Given the description of an element on the screen output the (x, y) to click on. 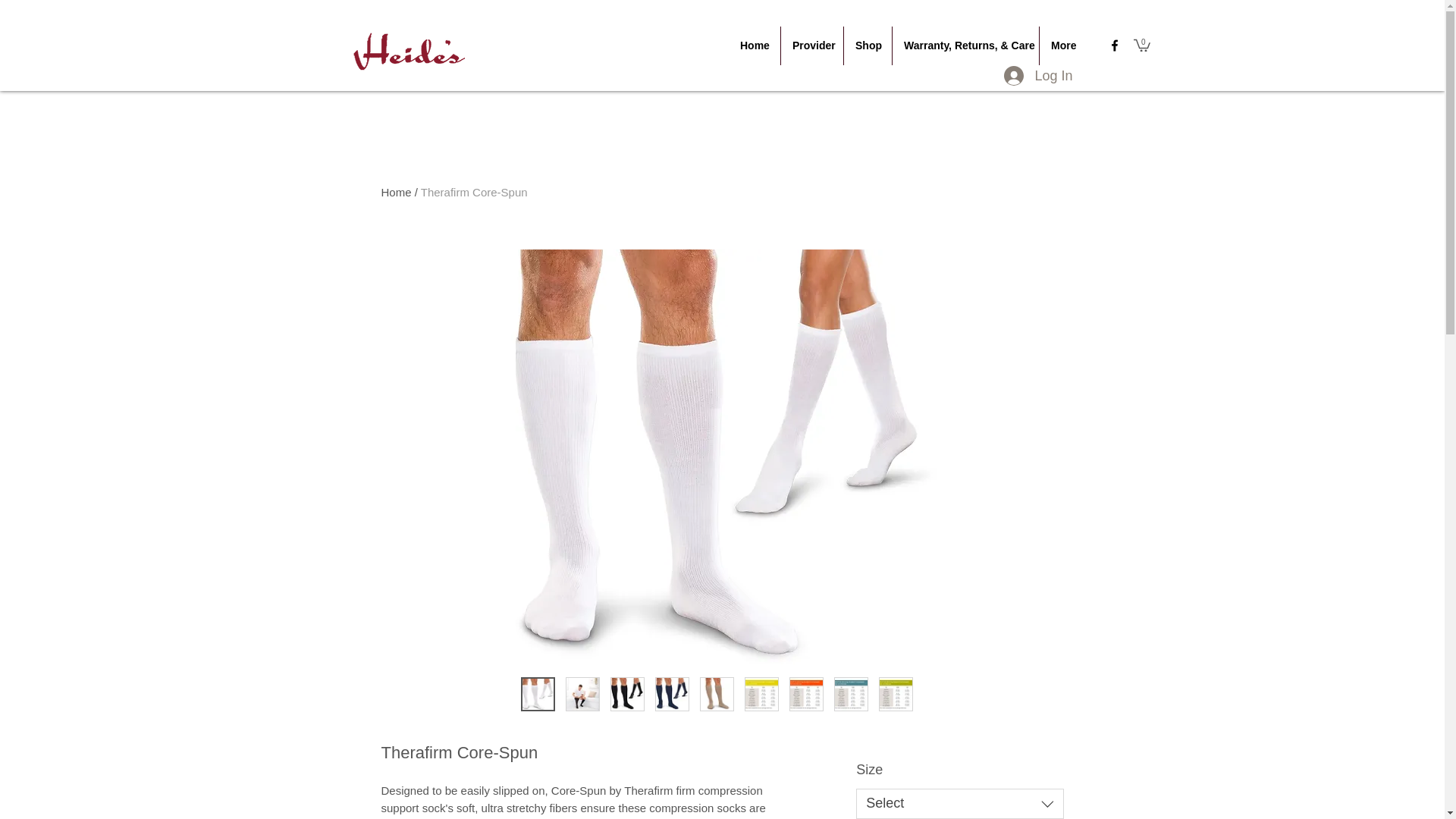
Therafirm Core-Spun (473, 192)
Select (959, 803)
Home (754, 45)
Home (395, 192)
Log In (1037, 76)
Site Search (1240, 43)
0 (1142, 44)
0 (1142, 44)
Shop (867, 45)
Provider (811, 45)
